Given the description of an element on the screen output the (x, y) to click on. 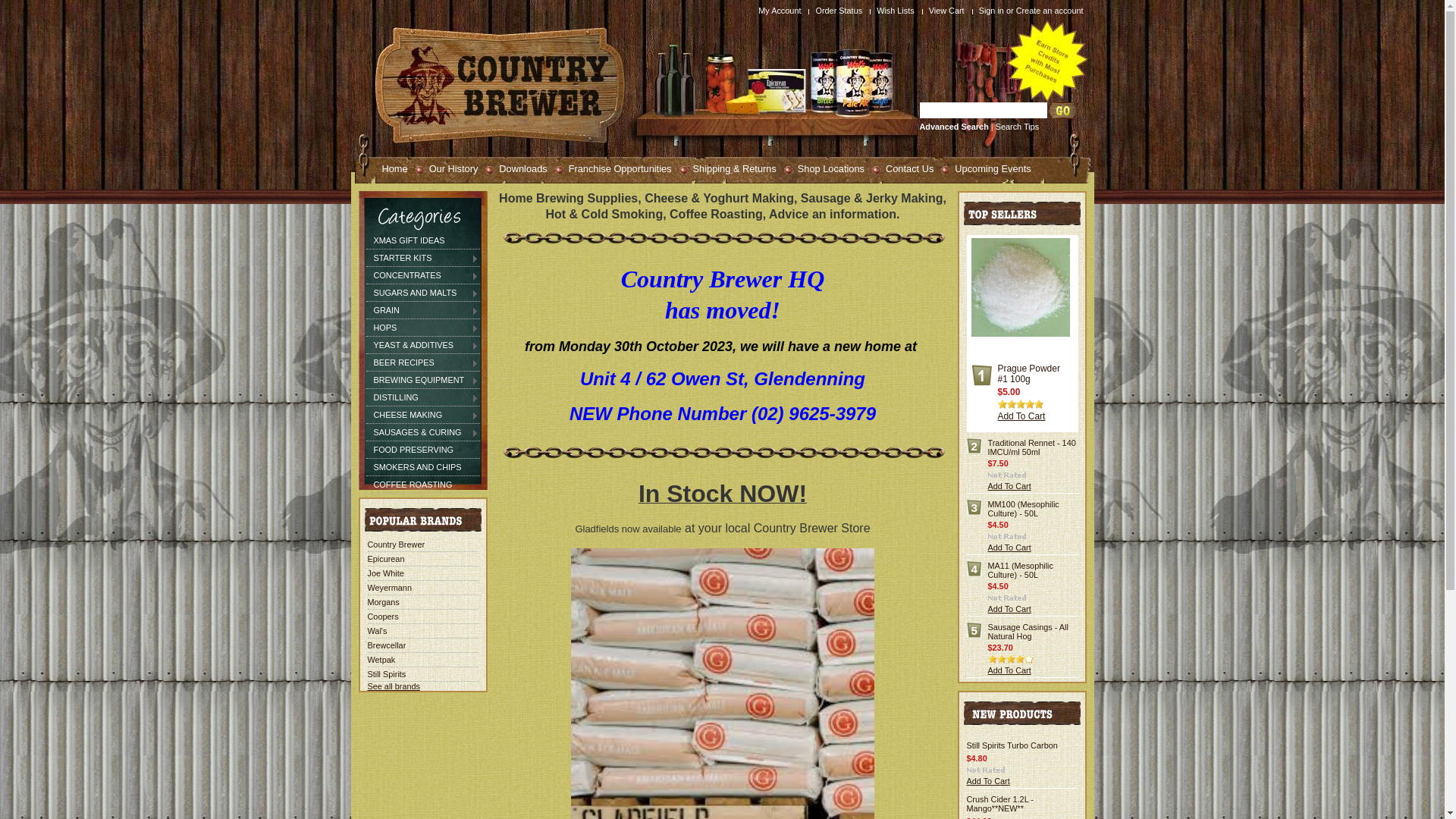
Country Brewer Element type: text (395, 544)
Add To Cart Element type: text (1008, 547)
Create an account Element type: text (1049, 10)
See all brands Element type: text (393, 685)
Downloads Element type: text (515, 167)
FOOD PRESERVING Element type: text (422, 449)
Epicurean Element type: text (385, 558)
divider-chain.png Element type: hover (723, 452)
Morgans Element type: text (382, 601)
Prague Powder #1 100g Element type: text (1028, 373)
Still Spirits Element type: text (386, 673)
My Account Element type: text (781, 10)
Add To Cart Element type: text (987, 780)
Sausage Casings - All Natural Hog Element type: text (1027, 631)
View Cart Element type: text (948, 10)
Add To Cart Element type: text (1008, 669)
Crush Cider 1.2L - Mango**NEW** Element type: text (999, 803)
XMAS GIFT IDEAS Element type: text (422, 240)
Traditional Rennet - 140 IMCU/ml 50ml Element type: text (1031, 447)
Shop Locations Element type: text (824, 167)
Weyermann Element type: text (389, 587)
Shipping & Returns Element type: text (727, 167)
Add To Cart Element type: text (1008, 485)
Wal's Element type: text (376, 630)
Still Spirits Turbo Carbon Element type: text (1011, 744)
Joe White Element type: text (385, 572)
Brewcellar Element type: text (386, 644)
COFFEE ROASTING Element type: text (422, 484)
divider-chain.png Element type: hover (723, 237)
Our History Element type: text (446, 167)
Sign in Element type: text (991, 10)
Advanced Search Element type: text (953, 126)
Upcoming Events Element type: text (985, 167)
Wish Lists Element type: text (897, 10)
Contact Us Element type: text (902, 167)
MM100 (Mesophilic Culture) - 50L Element type: text (1022, 508)
Search Tips Element type: text (1016, 126)
Franchise Opportunities Element type: text (613, 167)
Add To Cart Element type: text (1008, 608)
Home Element type: text (387, 167)
Wetpak Element type: text (381, 659)
SMOKERS AND CHIPS Element type: text (422, 466)
Add To Cart Element type: text (1021, 416)
Coopers Element type: text (382, 616)
Order Status Element type: text (840, 10)
MA11 (Mesophilic Culture) - 50L Element type: text (1019, 570)
